Given the description of an element on the screen output the (x, y) to click on. 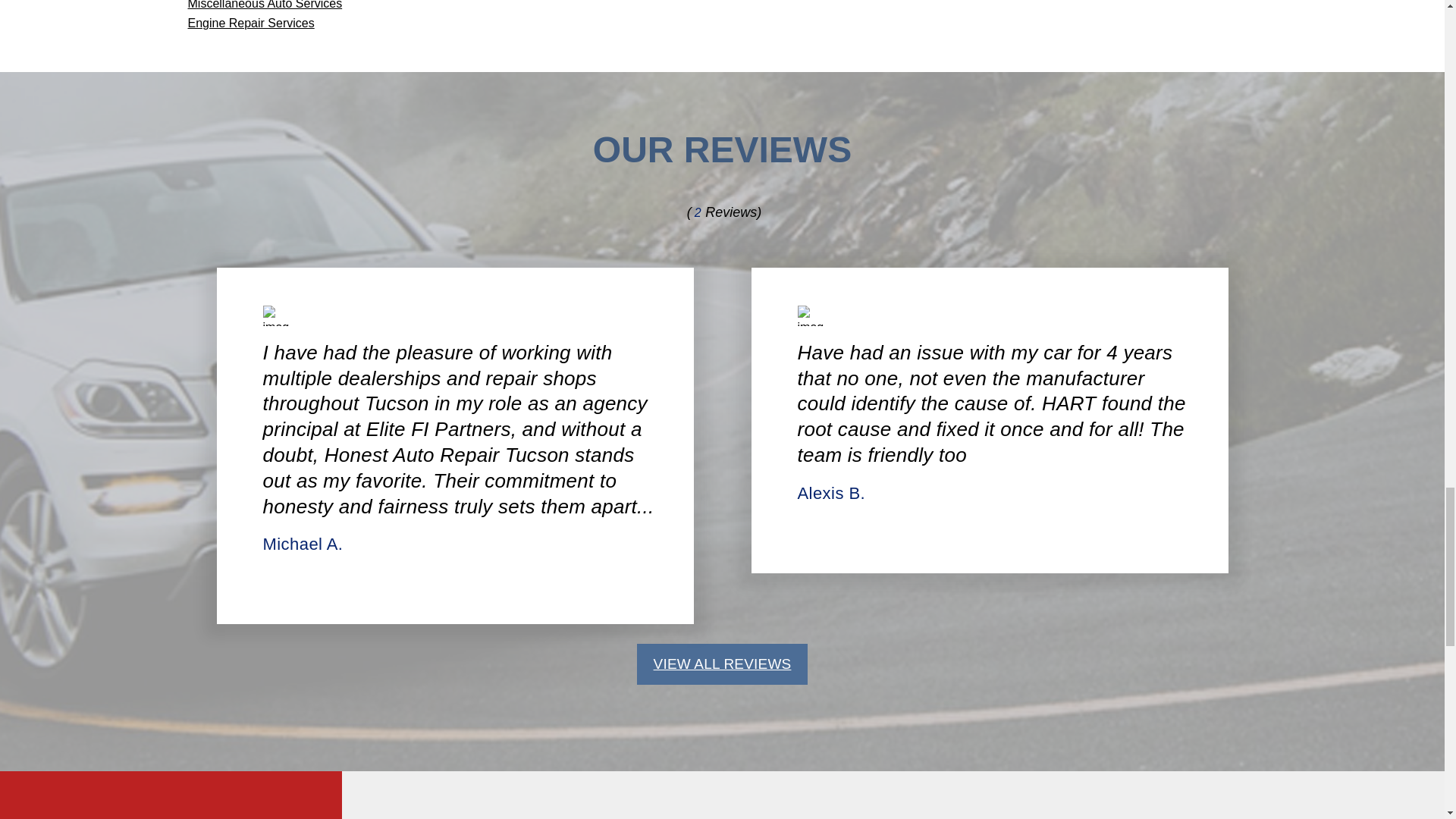
Engine Repair Services (250, 22)
Miscellaneous Auto Services (264, 4)
